Given the description of an element on the screen output the (x, y) to click on. 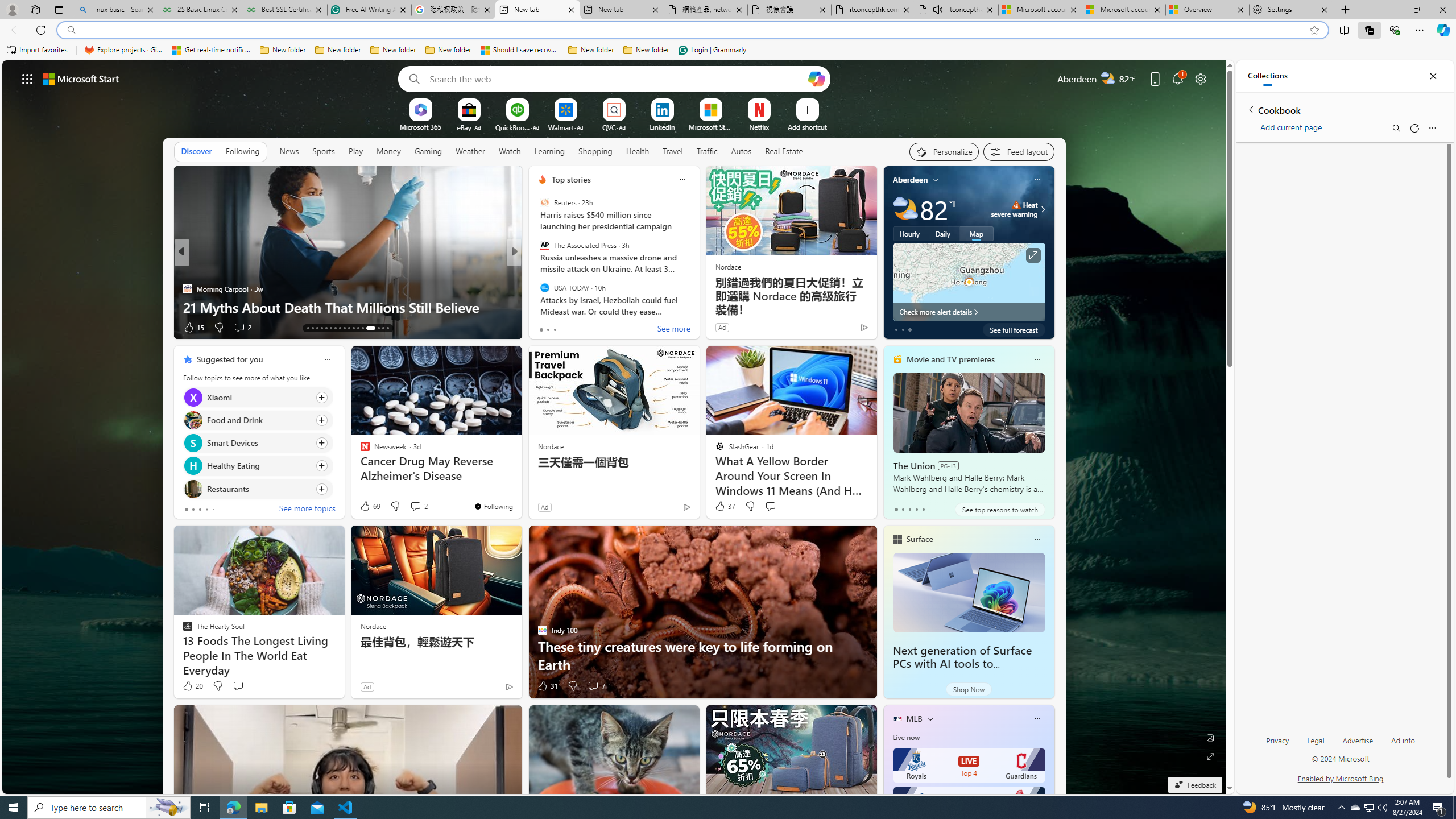
Best SSL Certificates Provider in India - GeeksforGeeks (284, 9)
20 Like (192, 685)
Partly cloudy (904, 208)
Edit Background (1210, 737)
Add a site (807, 126)
Map (975, 233)
itconcepthk.com/projector_solutions.mp4 - Audio playing (956, 9)
Class: icon-img (1037, 718)
Shopping (594, 151)
Play (354, 151)
Gaming (428, 151)
